Given the description of an element on the screen output the (x, y) to click on. 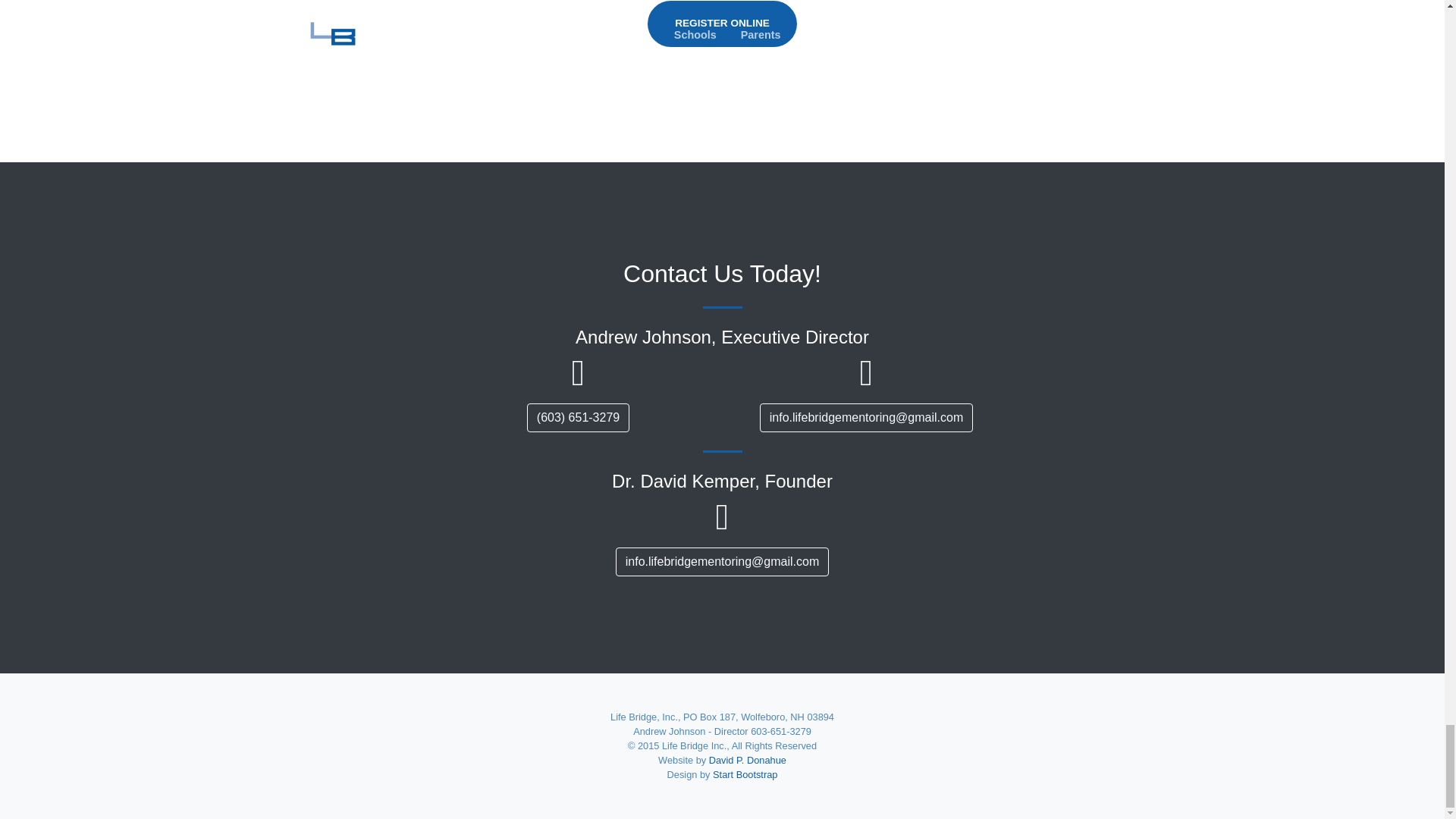
REGISTER ONLINE (721, 22)
REGISTER ONLINE (721, 22)
